Given the description of an element on the screen output the (x, y) to click on. 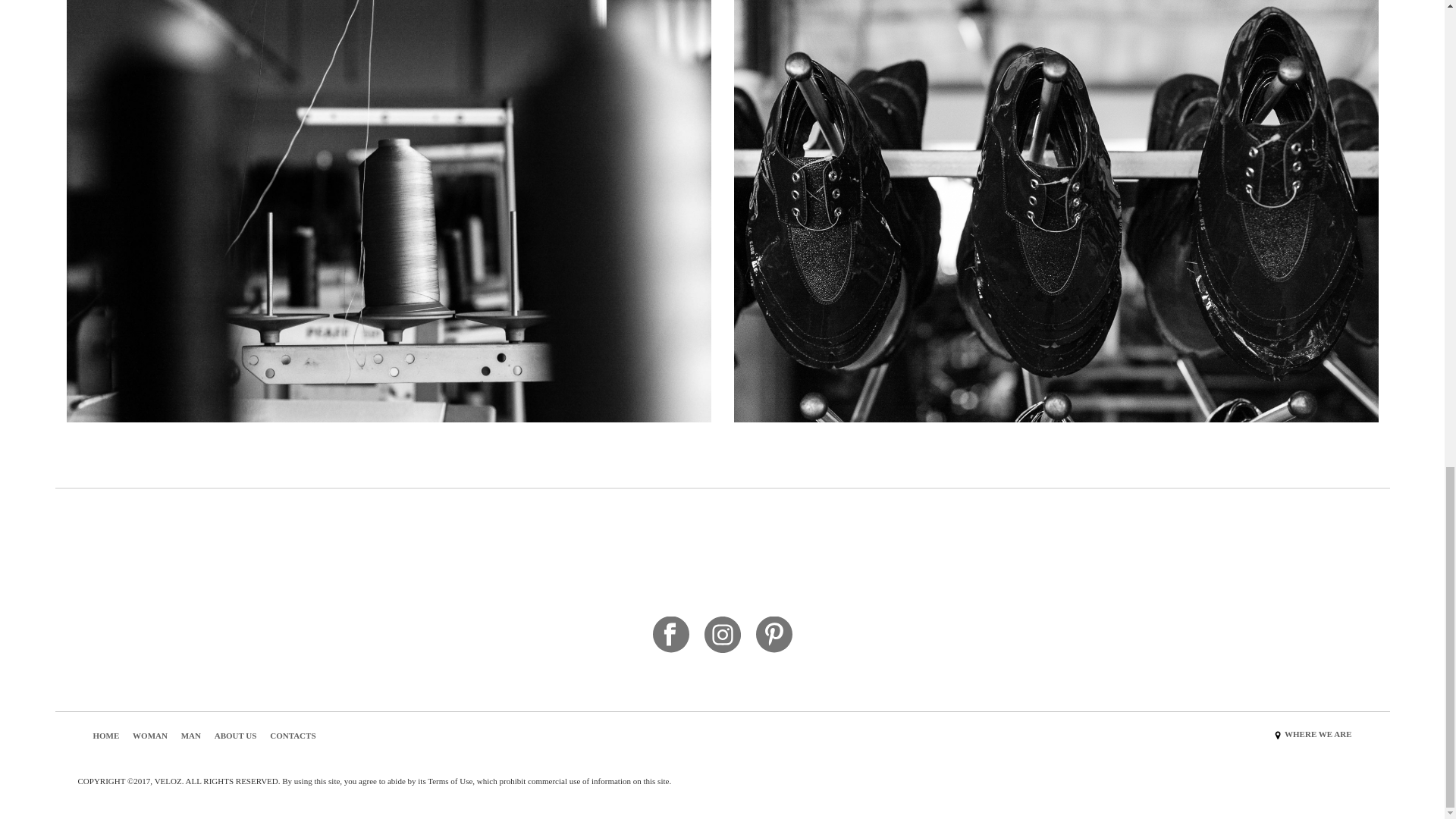
WOMAN (149, 735)
MAN (190, 735)
ABOUT US (235, 735)
WHERE WE ARE (1317, 733)
CONTACTS (292, 735)
HOME (106, 735)
